Given the description of an element on the screen output the (x, y) to click on. 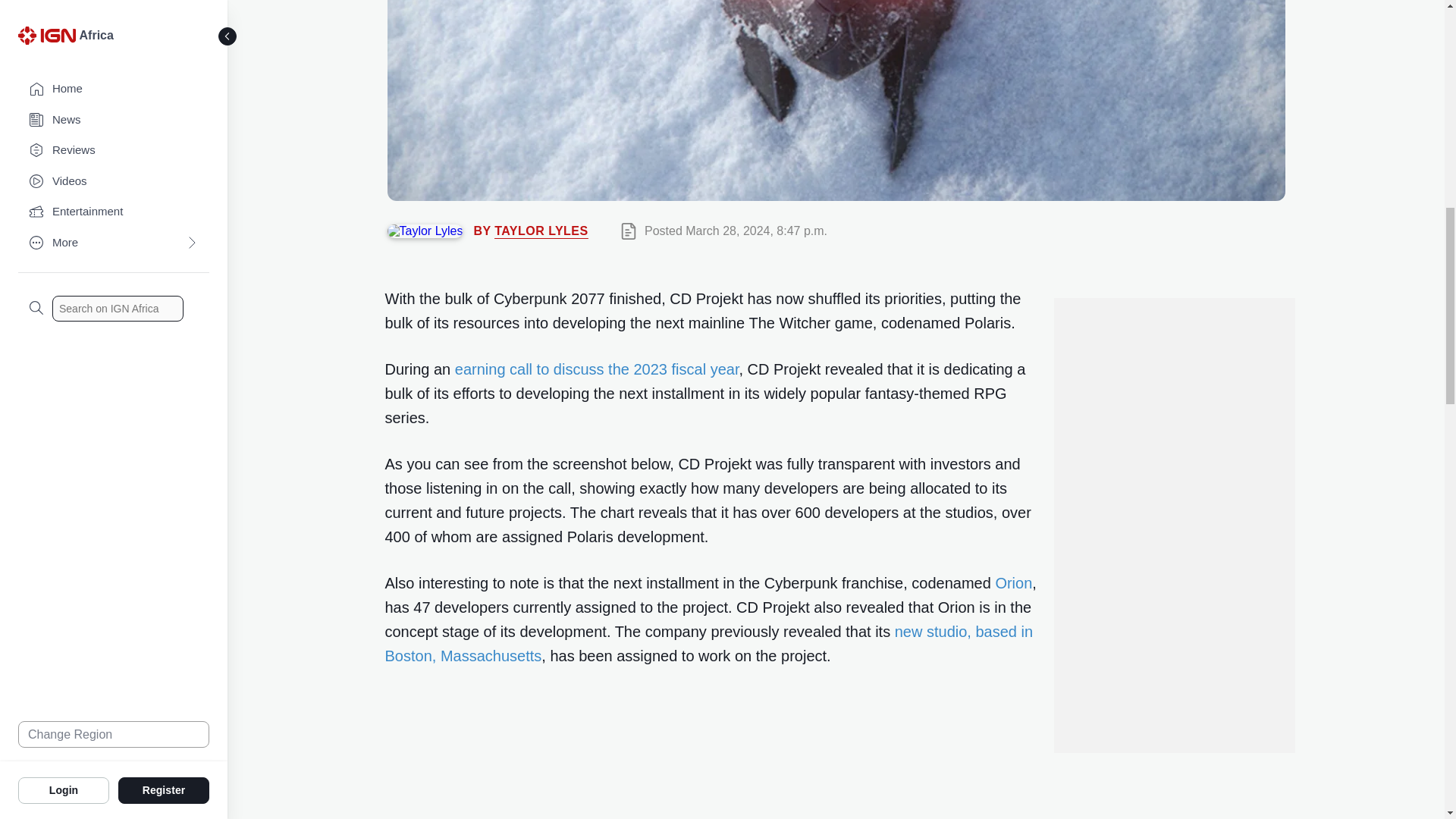
earning call to discuss the 2023 fiscal year (596, 369)
TAYLOR LYLES (541, 230)
Orion (1013, 582)
new studio, based in Boston, Massachusetts (709, 643)
